Given the description of an element on the screen output the (x, y) to click on. 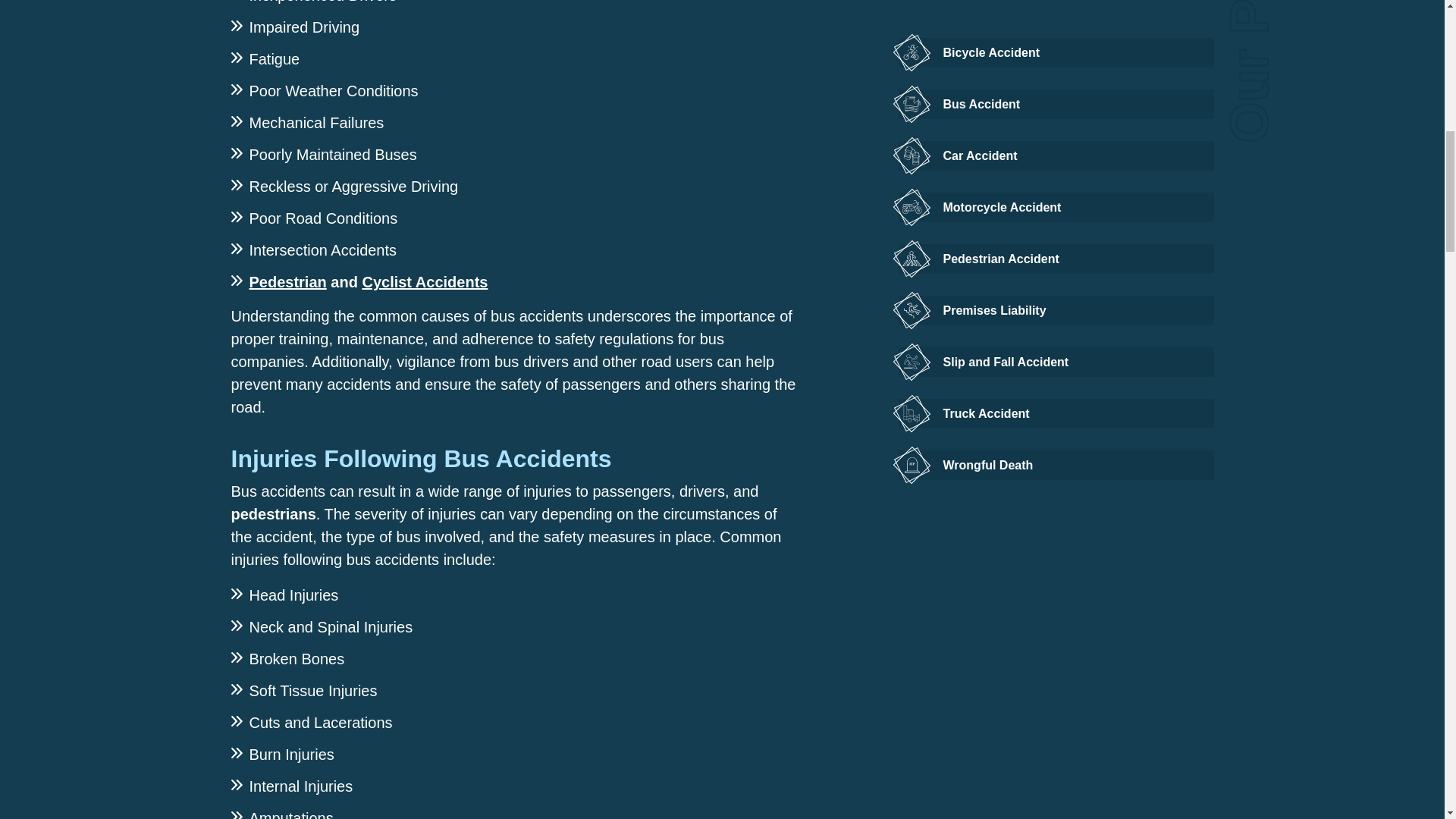
Cyclist Accidents (424, 281)
Pedestrian (287, 281)
